Given the description of an element on the screen output the (x, y) to click on. 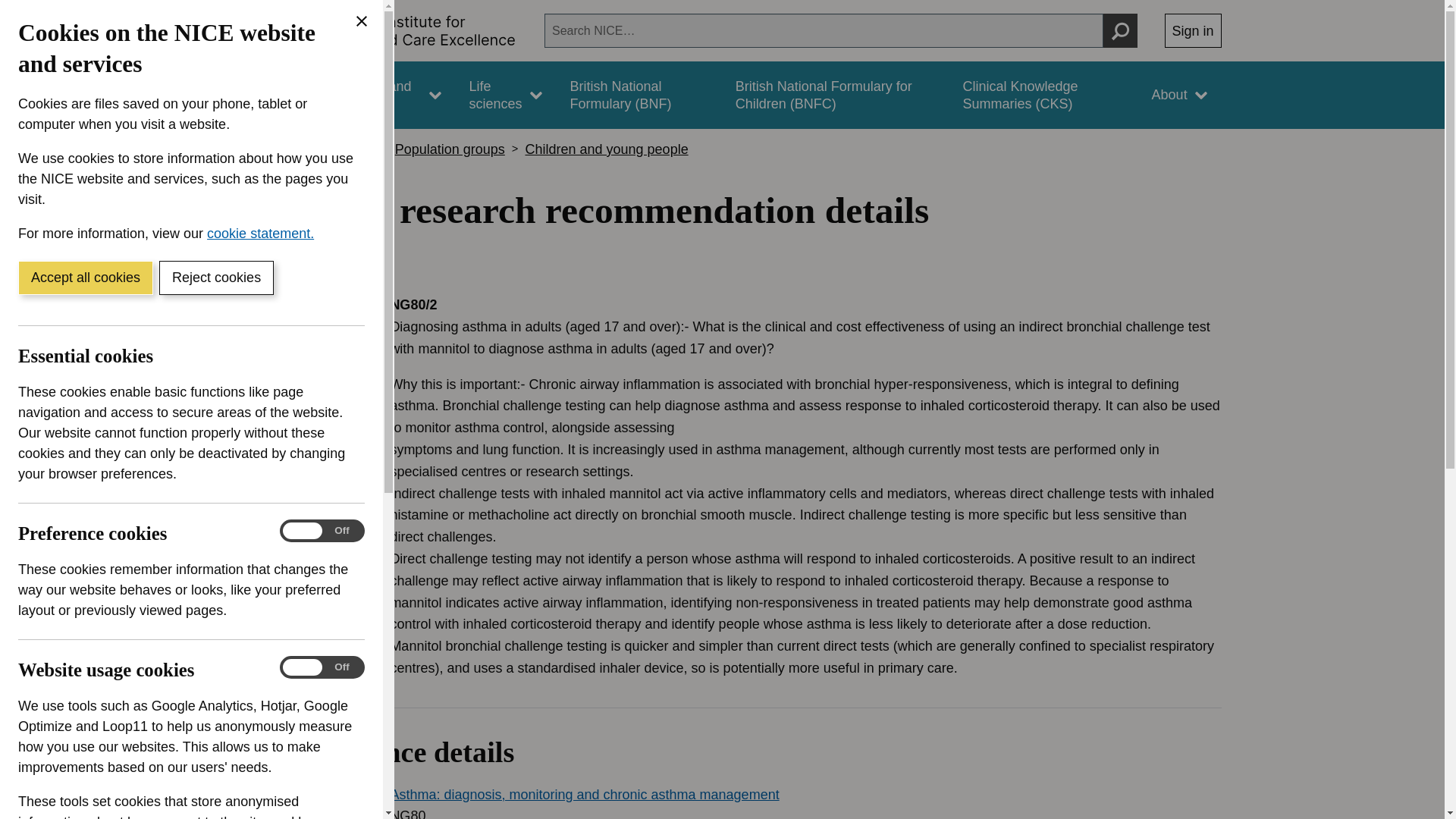
Standards and indicators (381, 94)
Reject cookies (215, 277)
Accept all cookies (84, 277)
Guidance (265, 94)
Life sciences (505, 94)
Sign in (1192, 30)
